Given the description of an element on the screen output the (x, y) to click on. 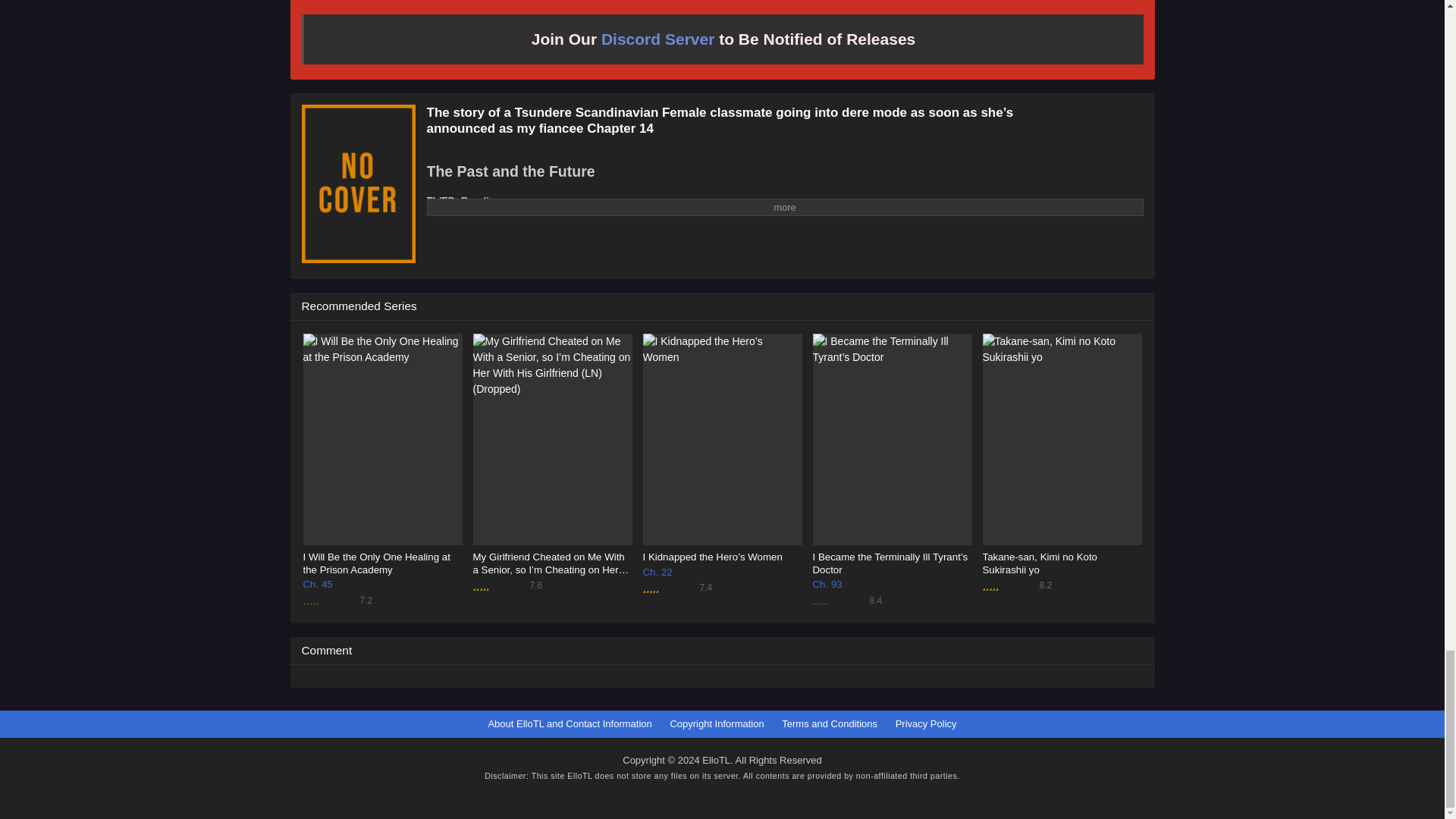
About ElloTL and Contact Information (568, 723)
Terms and Conditions (829, 723)
Privacy Policy (925, 723)
Copyright Information (715, 723)
Discord Server (657, 38)
